Given the description of an element on the screen output the (x, y) to click on. 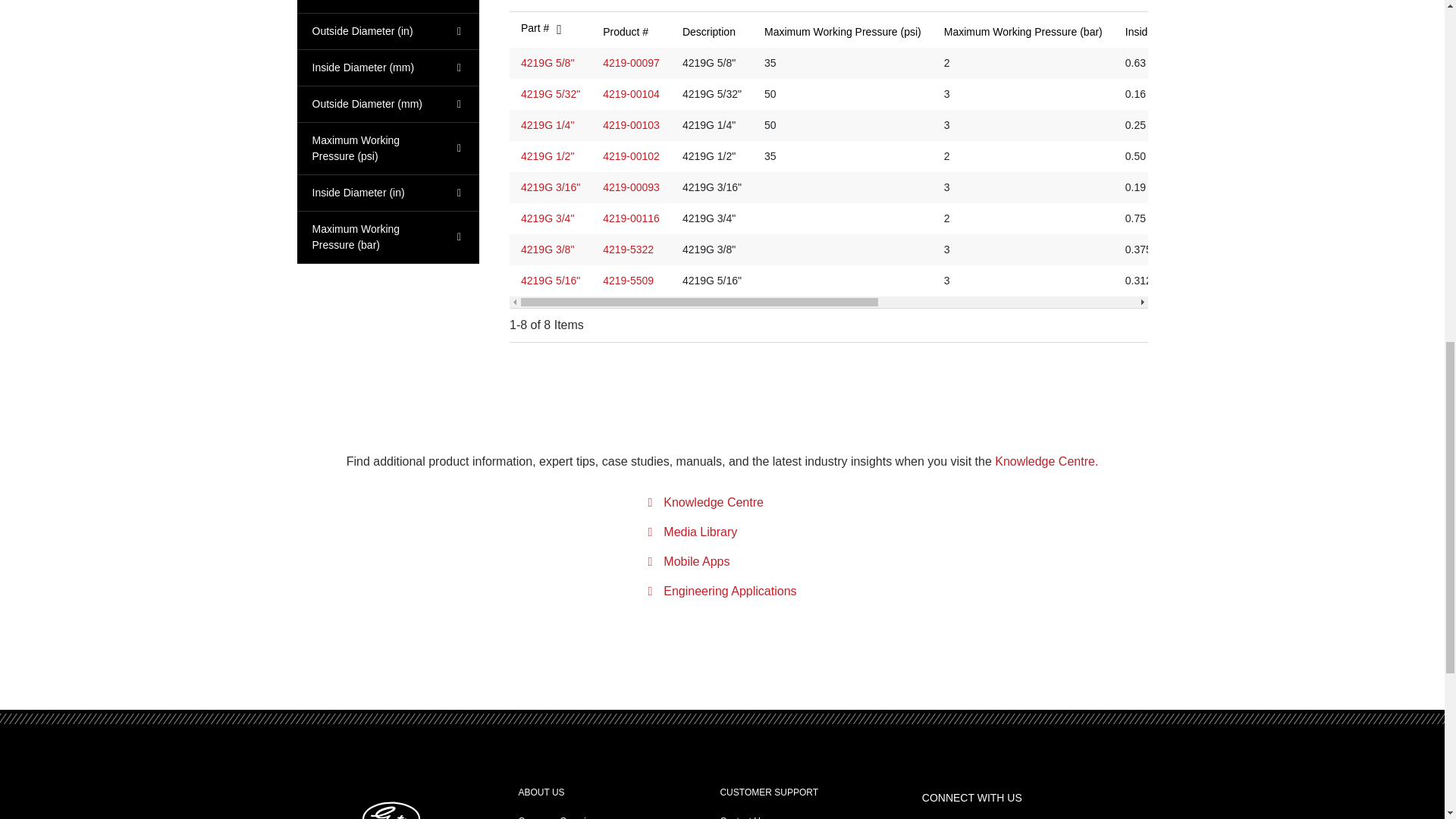
LinkedIn (929, 814)
Company Overview (558, 817)
Contact Us (741, 817)
YouTube (948, 814)
